Given the description of an element on the screen output the (x, y) to click on. 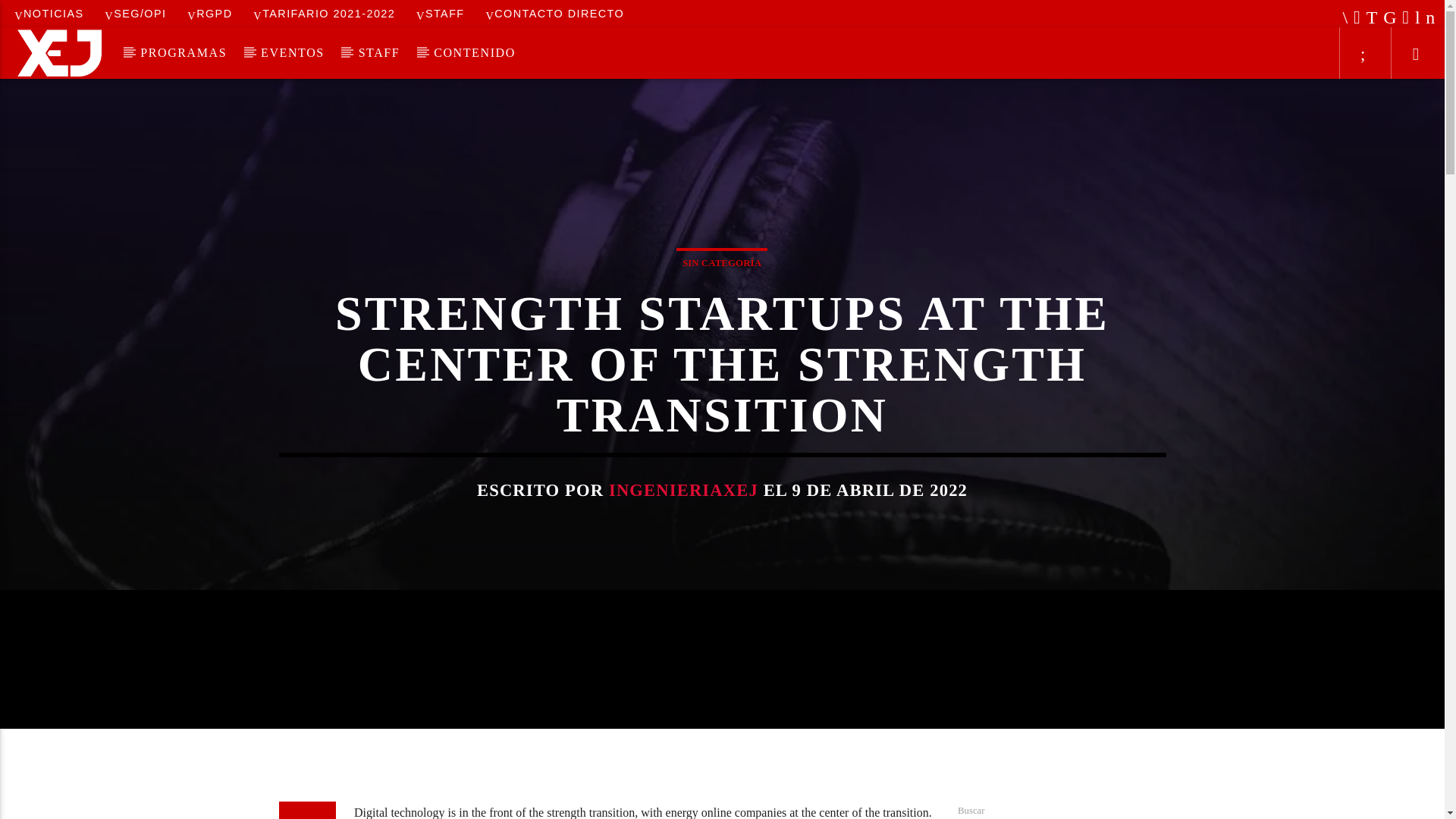
STAFF (378, 52)
NOTICIAS (48, 13)
PROGRAMAS (183, 52)
EVENTOS (293, 52)
RGPD (209, 13)
CONTACTO DIRECTO (554, 13)
Entradas de ingenieriaxej (683, 489)
CONTENIDO (474, 52)
STAFF (440, 13)
TARIFARIO 2021-2022 (324, 13)
